Given the description of an element on the screen output the (x, y) to click on. 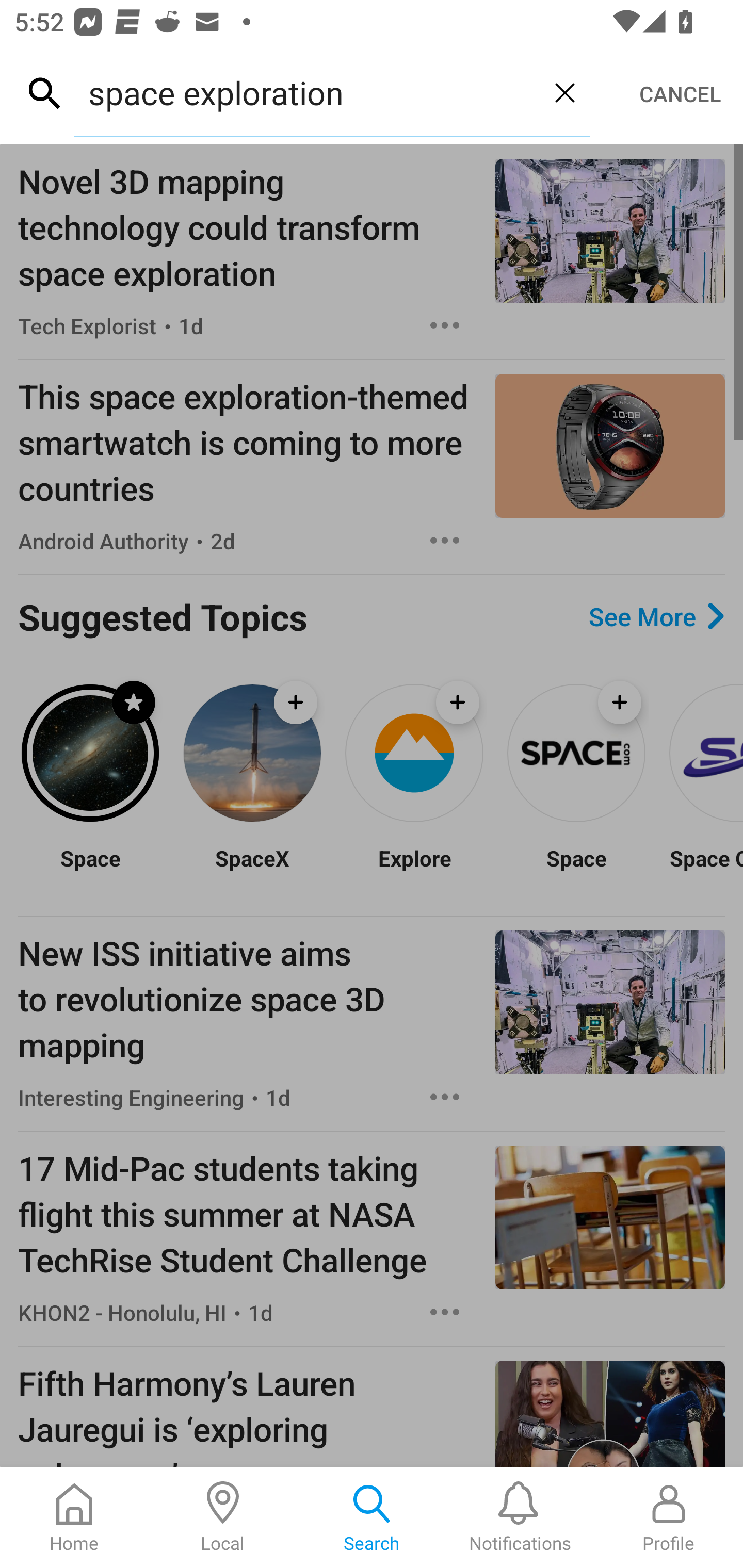
Clear query (564, 92)
CANCEL (680, 93)
space exploration (306, 92)
Options (444, 325)
Options (444, 540)
See More (656, 615)
Space (89, 870)
SpaceX (251, 870)
Explore (413, 870)
Space (575, 870)
Options (444, 1096)
Options (444, 1312)
Home (74, 1517)
Local (222, 1517)
Notifications (519, 1517)
Profile (668, 1517)
